Given the description of an element on the screen output the (x, y) to click on. 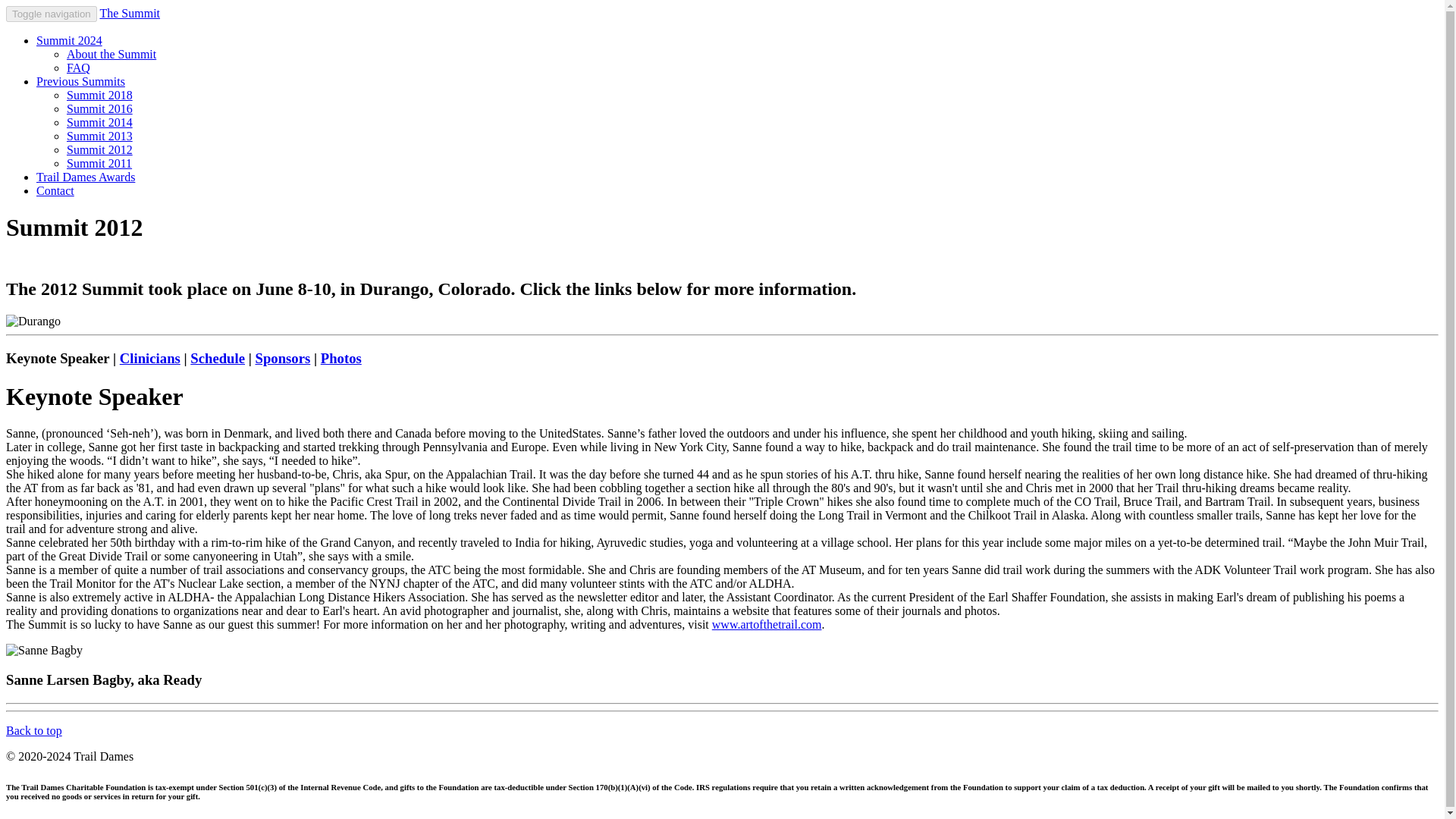
About the Summit (110, 53)
Summit 2013 (99, 135)
Back to top (33, 730)
Contact (55, 190)
Previous Summits (80, 81)
Summit 2011 (99, 163)
Summit 2018 (99, 94)
Photos (340, 358)
Toggle navigation (51, 13)
The Summit (129, 12)
Summit 2014 (99, 122)
Summit 2012 (99, 149)
FAQ (78, 67)
Summit 2024 (68, 40)
www.artofthetrail.com (766, 624)
